Given the description of an element on the screen output the (x, y) to click on. 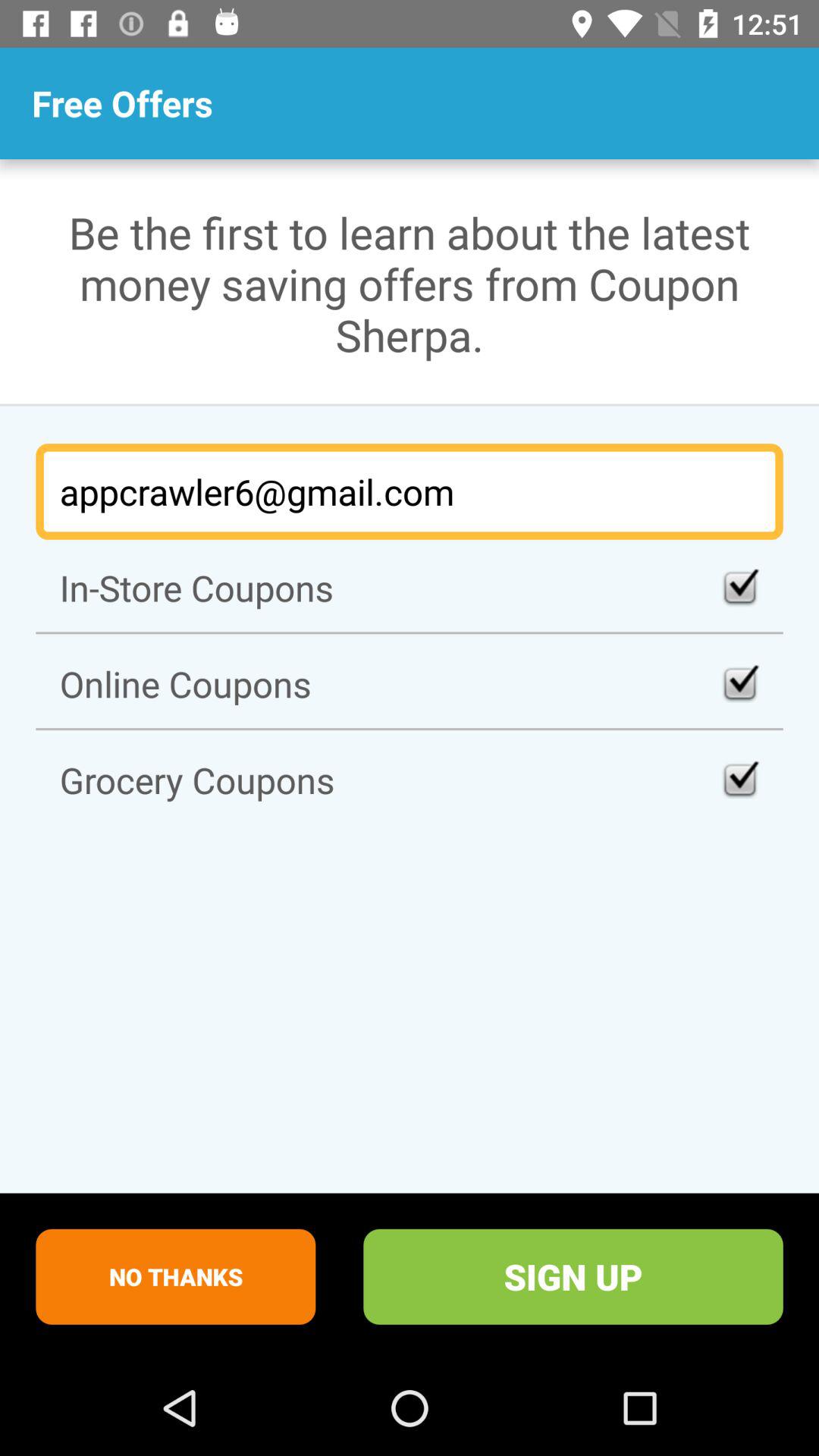
turn on the icon below the appcrawler6@gmail.com item (409, 587)
